Given the description of an element on the screen output the (x, y) to click on. 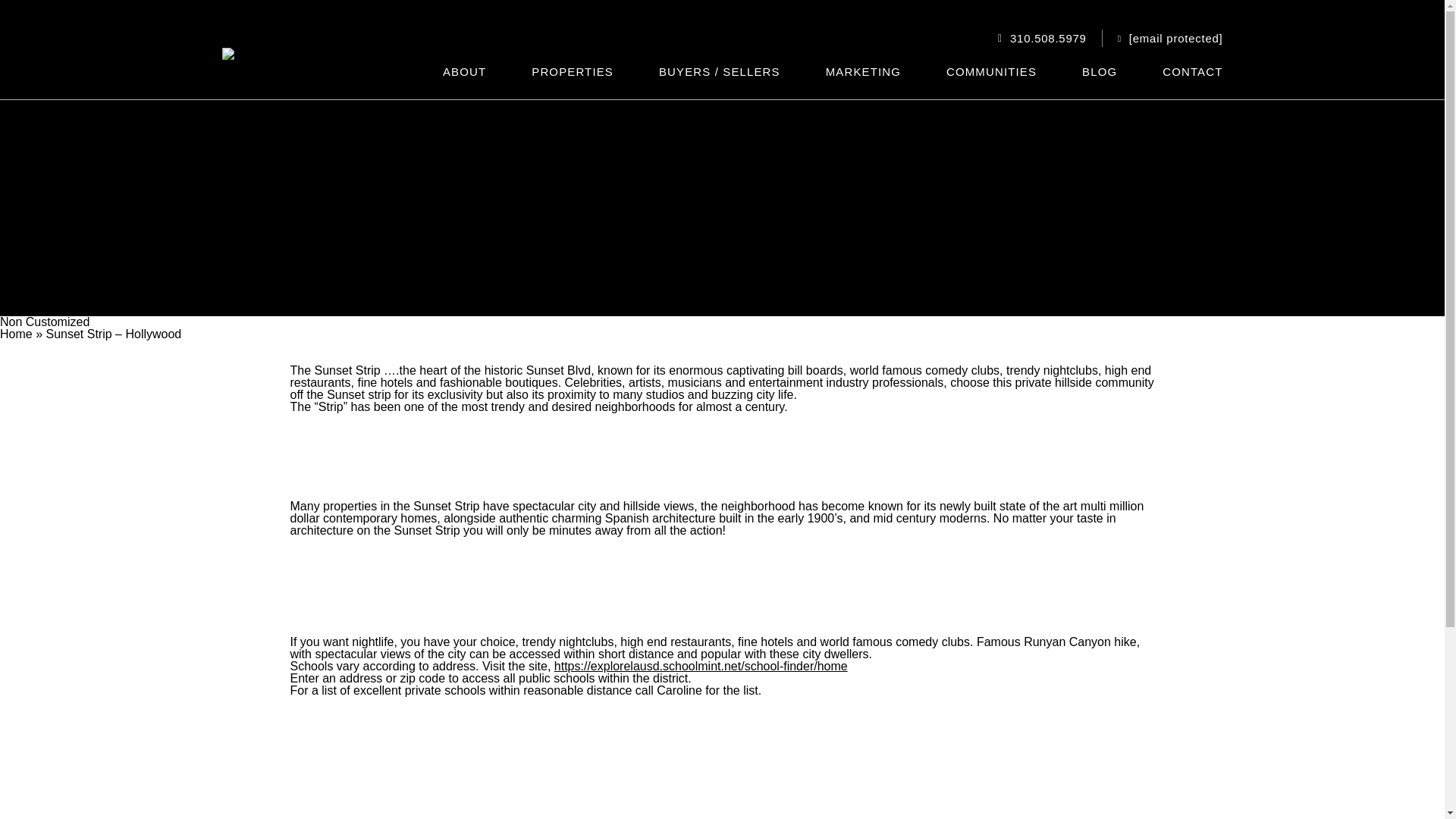
ABOUT (464, 71)
PROPERTIES (572, 71)
310.508.5979 (1048, 38)
